Given the description of an element on the screen output the (x, y) to click on. 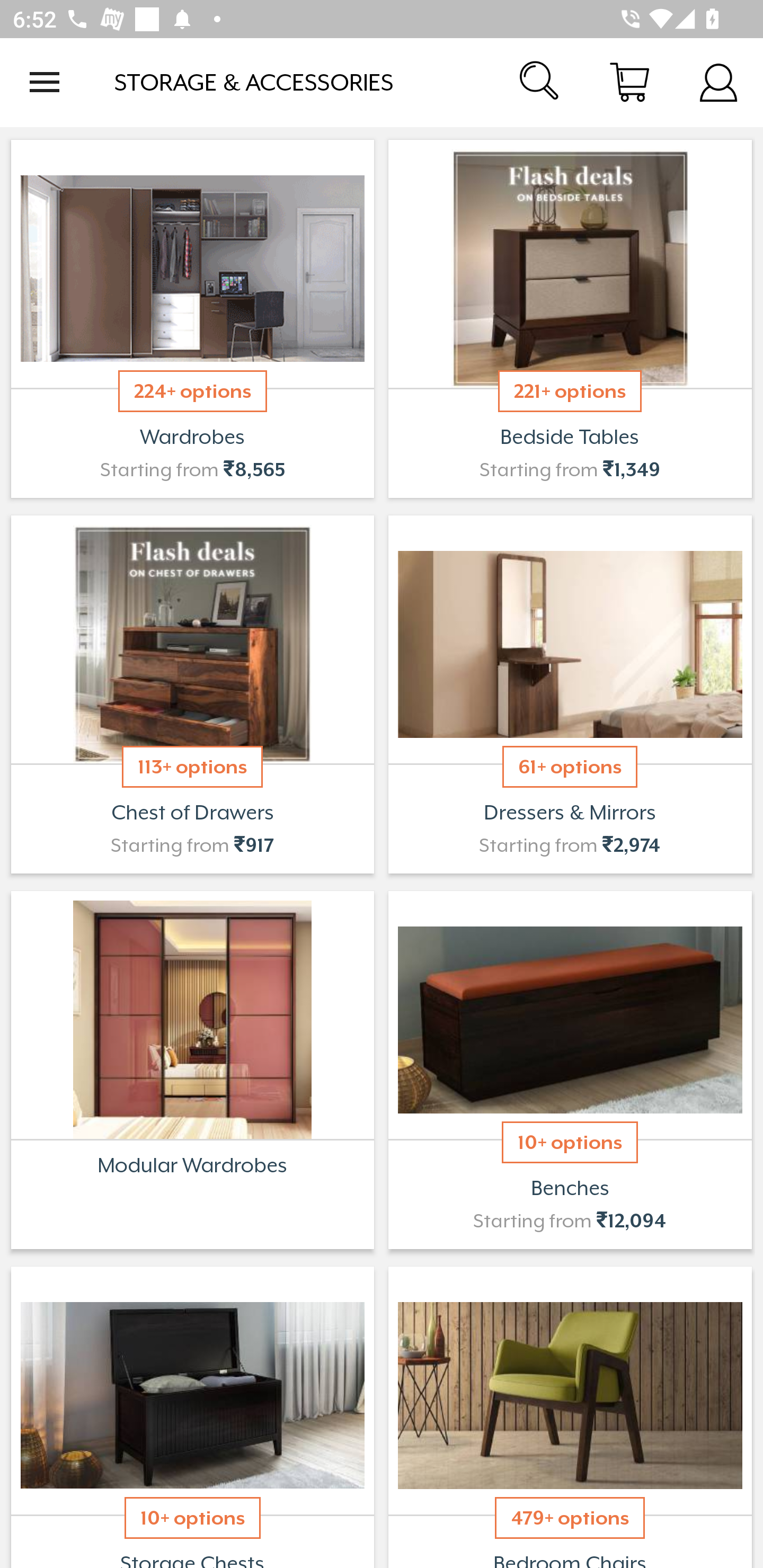
Open navigation drawer (44, 82)
Search (540, 81)
Cart (629, 81)
Account Details (718, 81)
224+ options Wardrobes Starting from  ₹8,565 (191, 318)
221+ options Bedside Tables Starting from  ₹1,349 (570, 318)
113+ options Chest of Drawers Starting from  ₹917 (191, 694)
Modular Wardrobes (191, 1069)
10+ options Benches Starting from  ₹12,094 (570, 1069)
10+ options Storage Chests (191, 1415)
479+ options Bedroom Chairs (570, 1415)
